Given the description of an element on the screen output the (x, y) to click on. 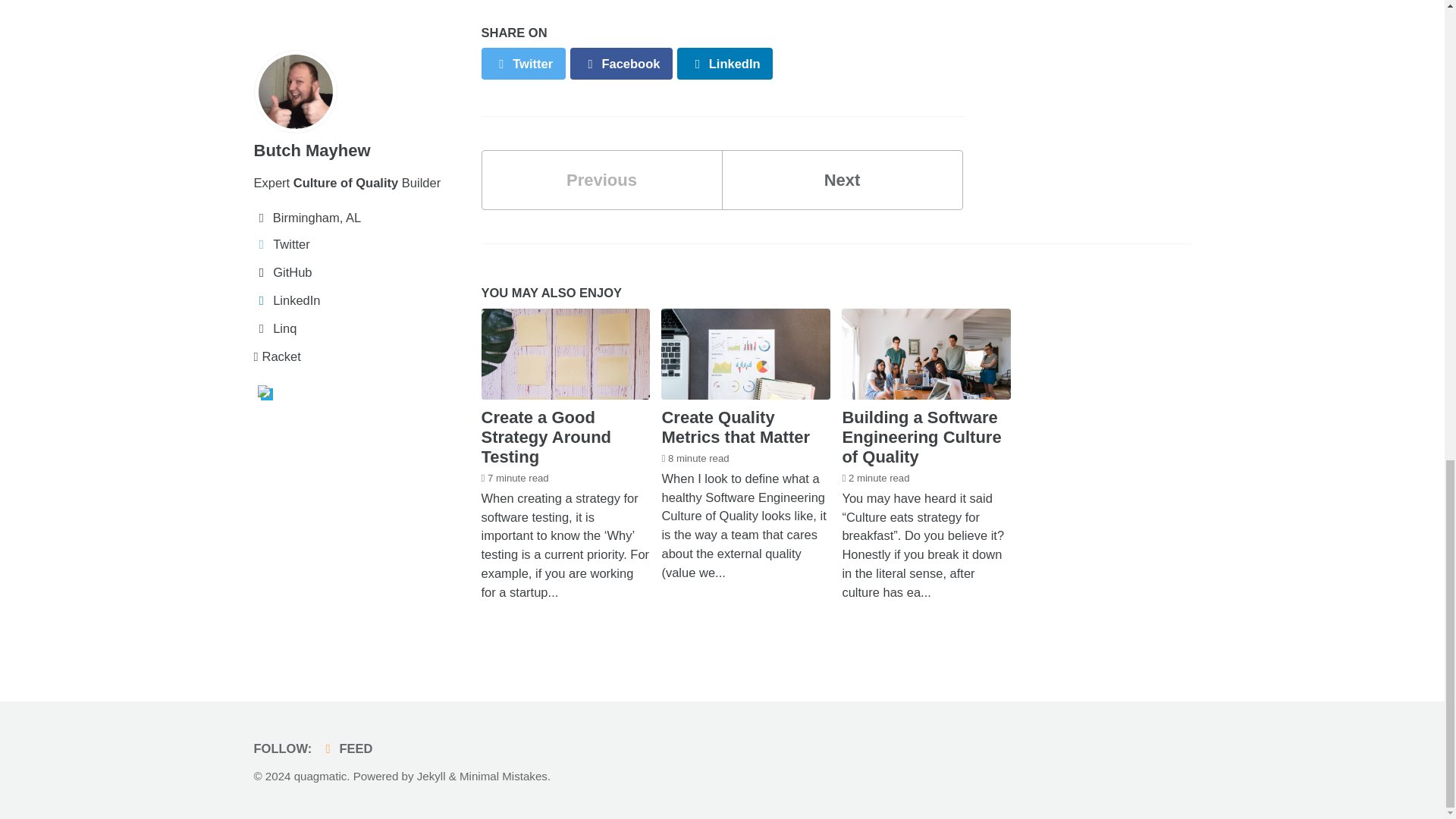
Twitter (522, 62)
Jekyll (430, 775)
Create Quality Metrics that Matter (735, 426)
Share on LinkedIn (725, 62)
Share on Twitter (522, 62)
Create a Good Strategy Around Testing (545, 436)
Building a Software Engineering Culture of Quality (921, 436)
Next (842, 179)
LinkedIn (725, 62)
Minimal Mistakes (503, 775)
Previous (601, 179)
Facebook (621, 62)
Share on Facebook (842, 179)
FEED (621, 62)
